Given the description of an element on the screen output the (x, y) to click on. 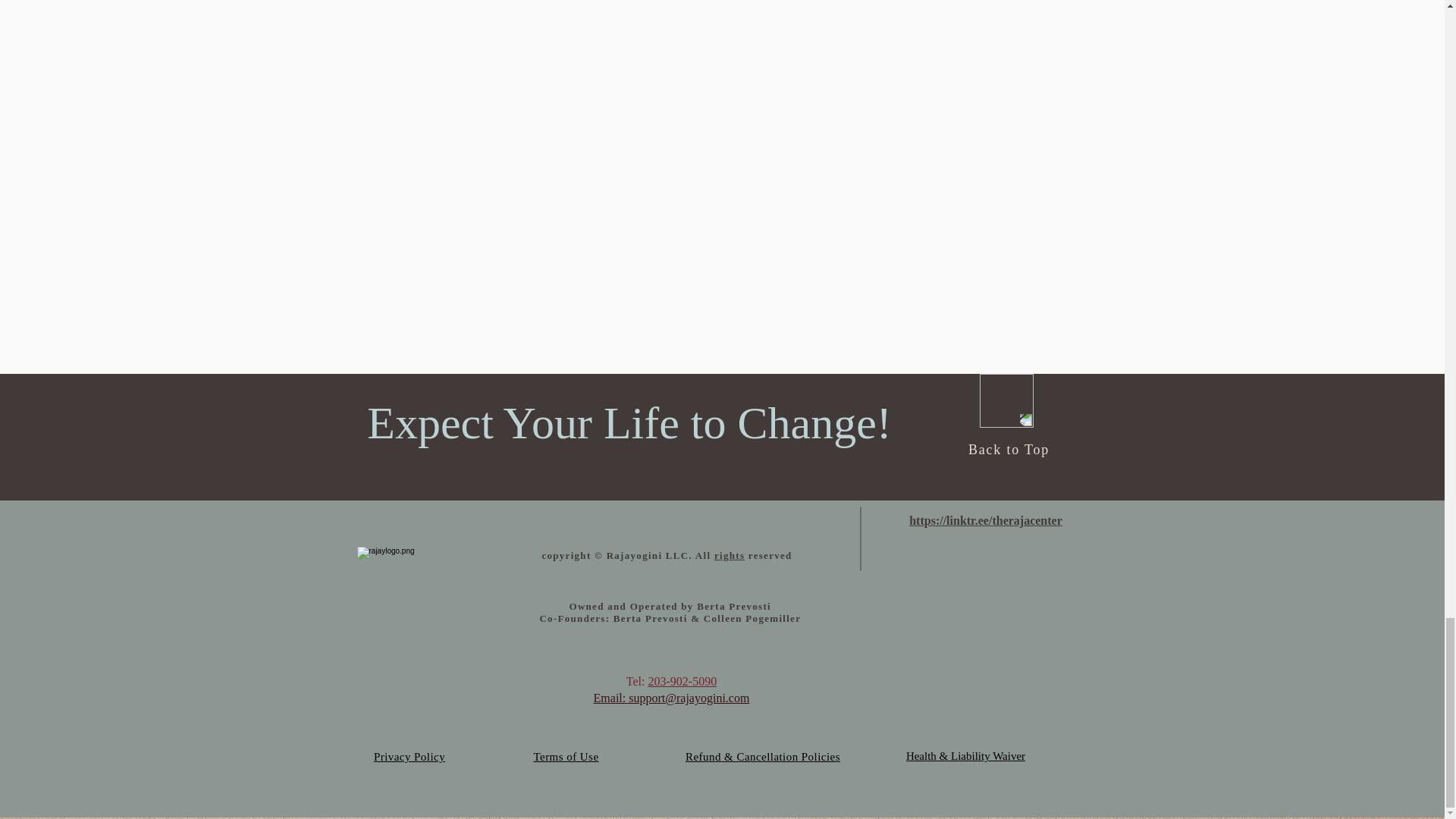
rights (729, 555)
203-902-5090 (681, 680)
Back to Top (1008, 449)
